Given the description of an element on the screen output the (x, y) to click on. 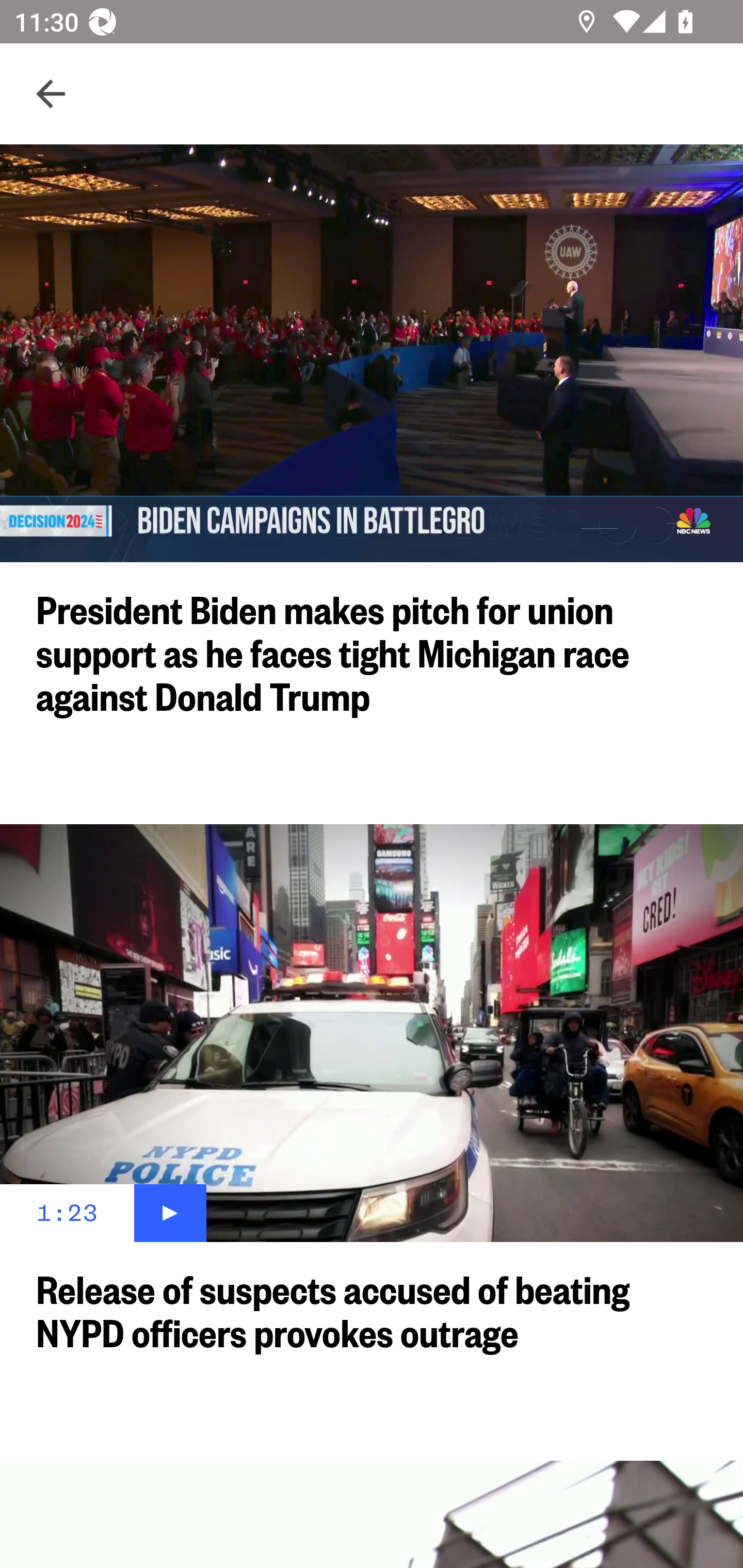
Navigate up (50, 93)
